Given the description of an element on the screen output the (x, y) to click on. 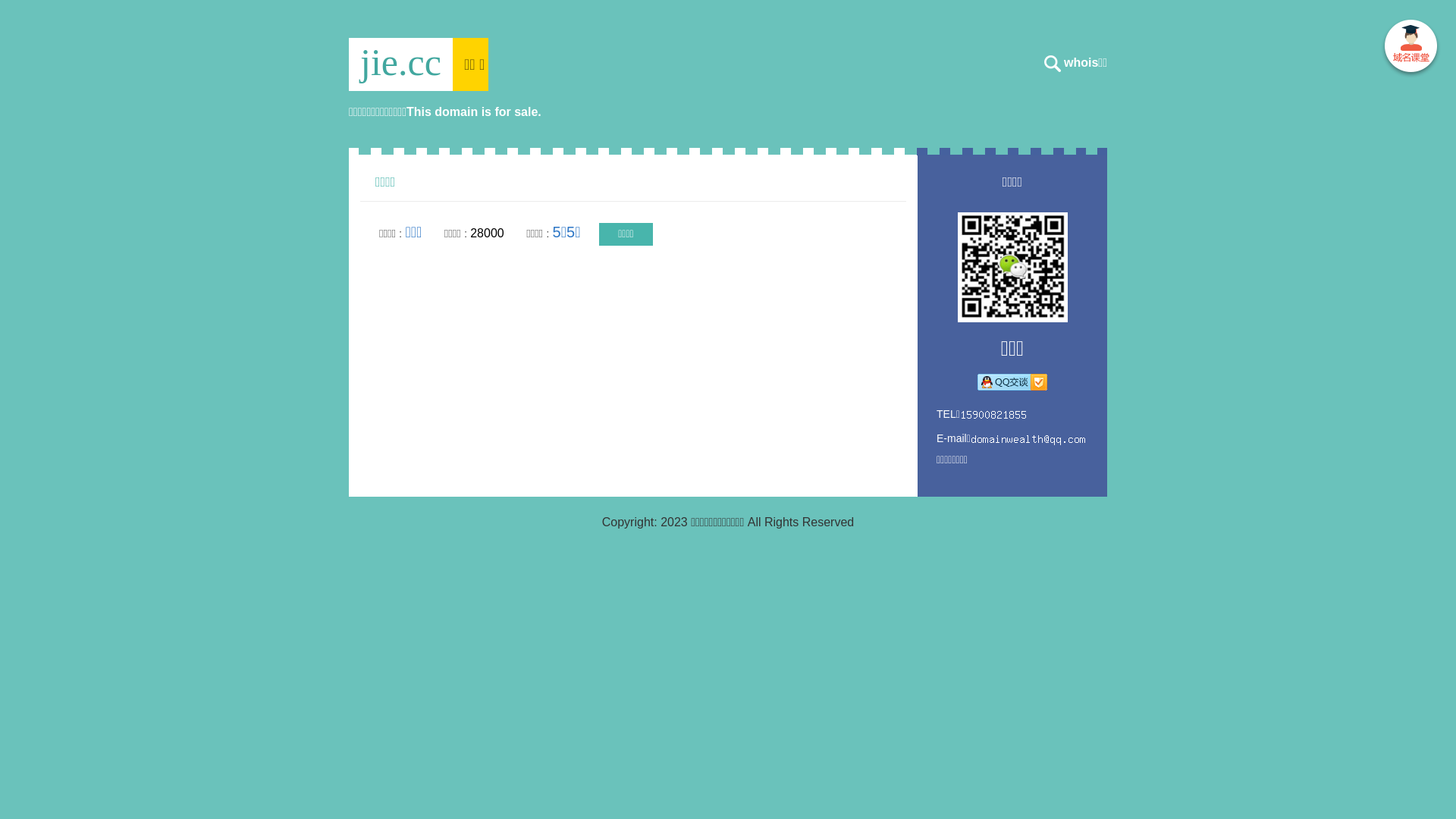
  Element type: text (1410, 48)
